Given the description of an element on the screen output the (x, y) to click on. 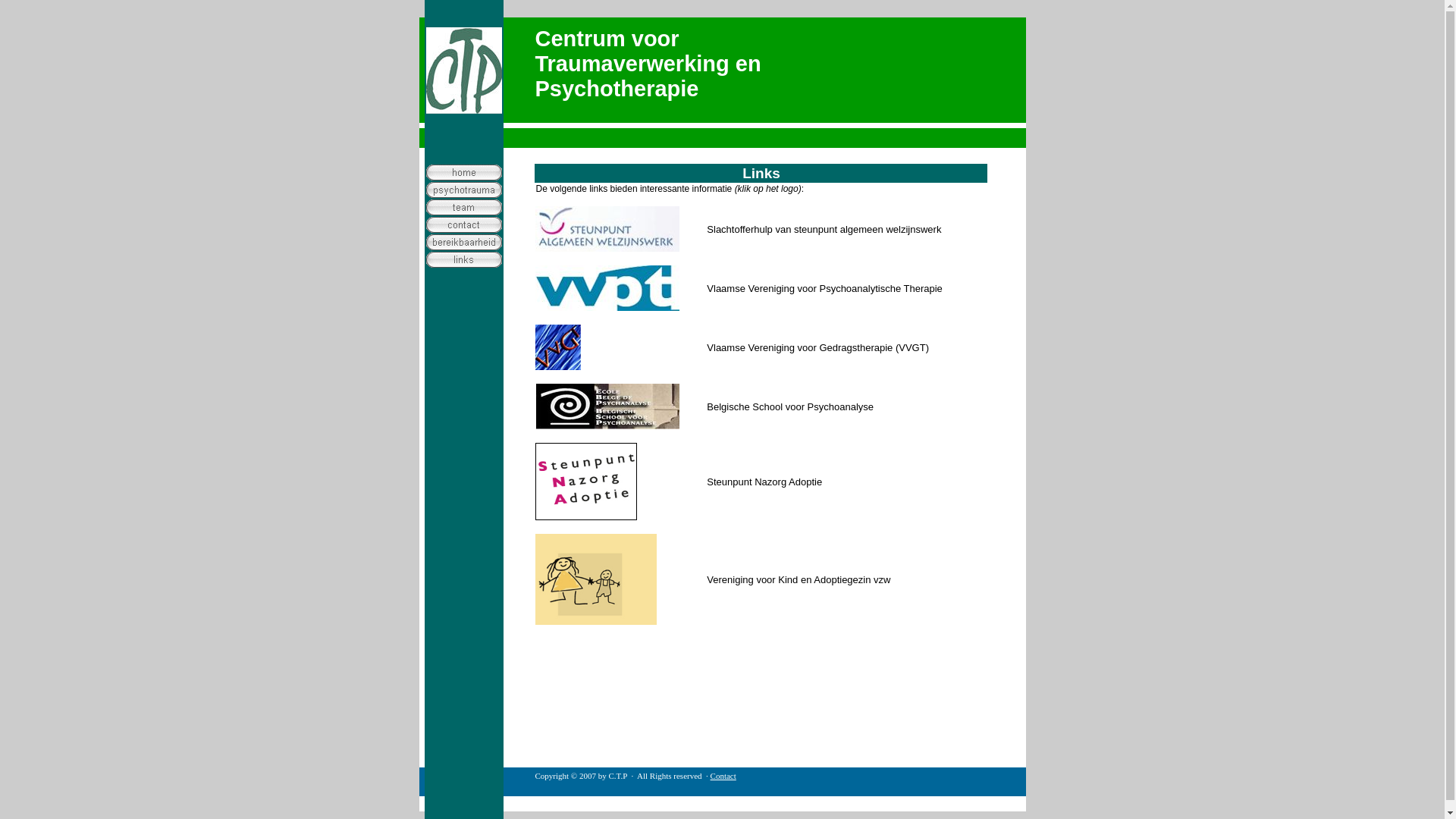
Contact Element type: text (723, 775)
